Given the description of an element on the screen output the (x, y) to click on. 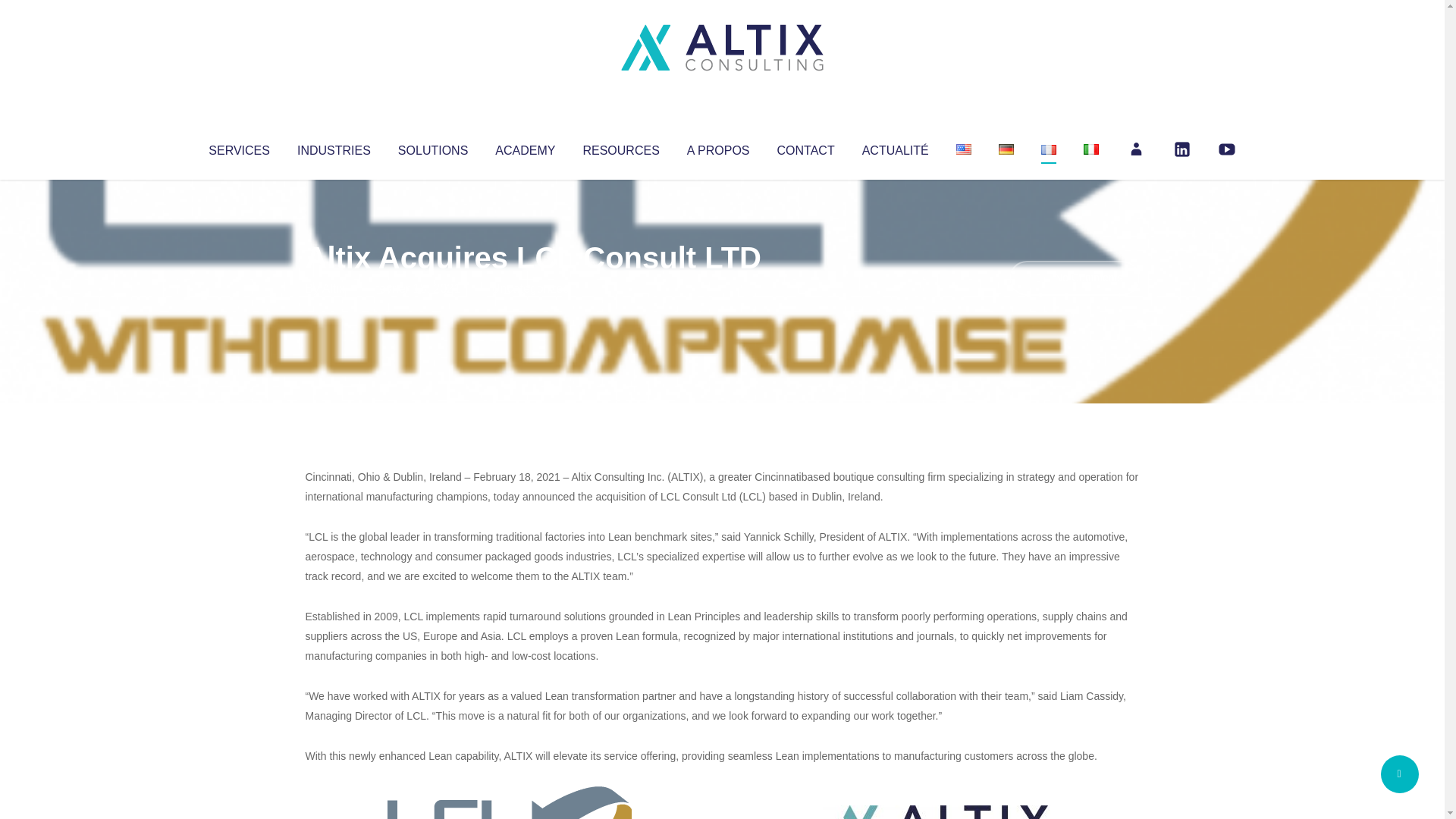
INDUSTRIES (334, 146)
SERVICES (238, 146)
RESOURCES (620, 146)
ACADEMY (524, 146)
A PROPOS (718, 146)
No Comments (1073, 278)
Altix (333, 287)
Uncategorized (530, 287)
SOLUTIONS (432, 146)
Articles par Altix (333, 287)
